Given the description of an element on the screen output the (x, y) to click on. 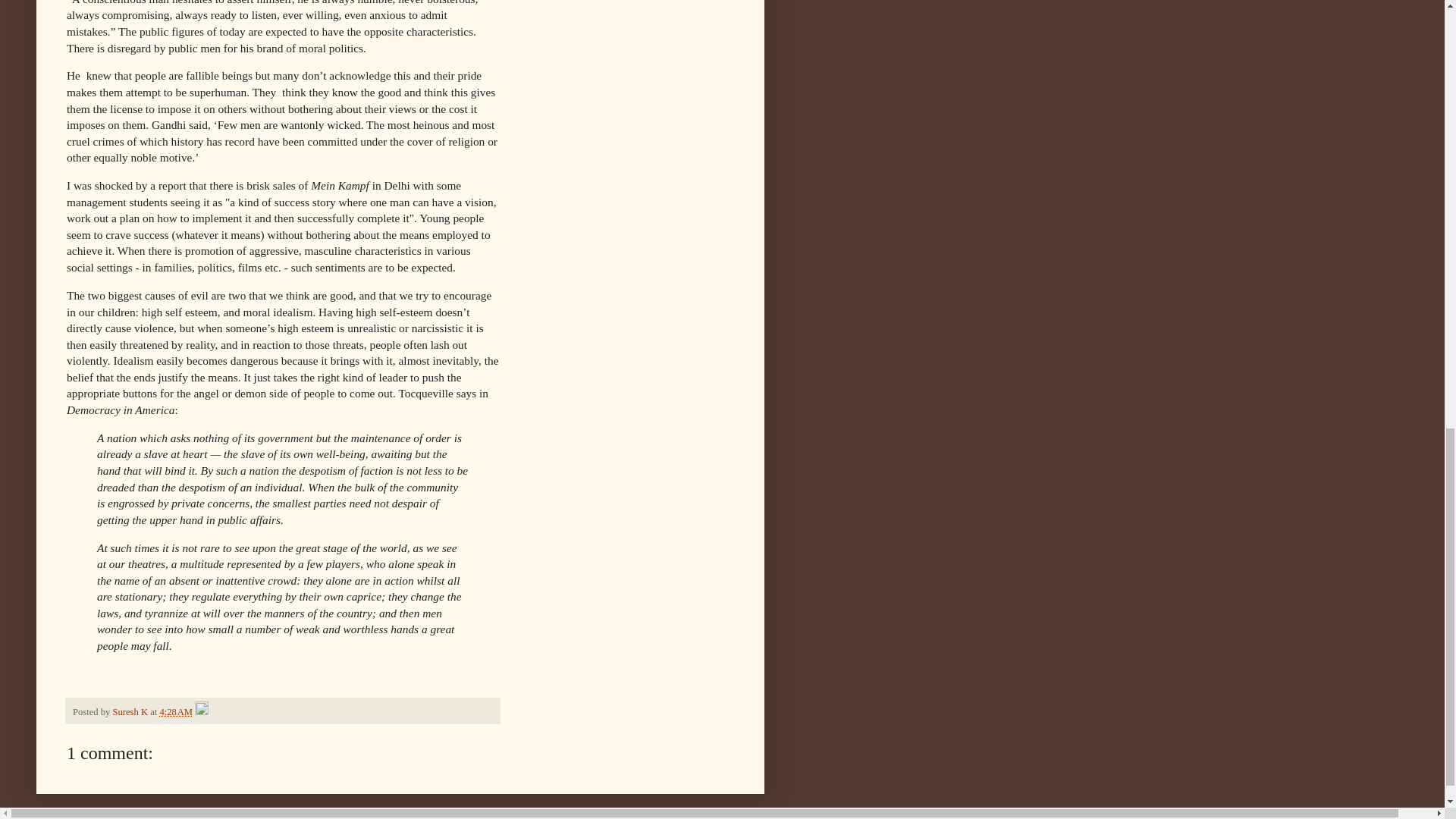
author profile (130, 711)
permanent link (175, 711)
Suresh K (130, 711)
Edit Post (201, 711)
